Given the description of an element on the screen output the (x, y) to click on. 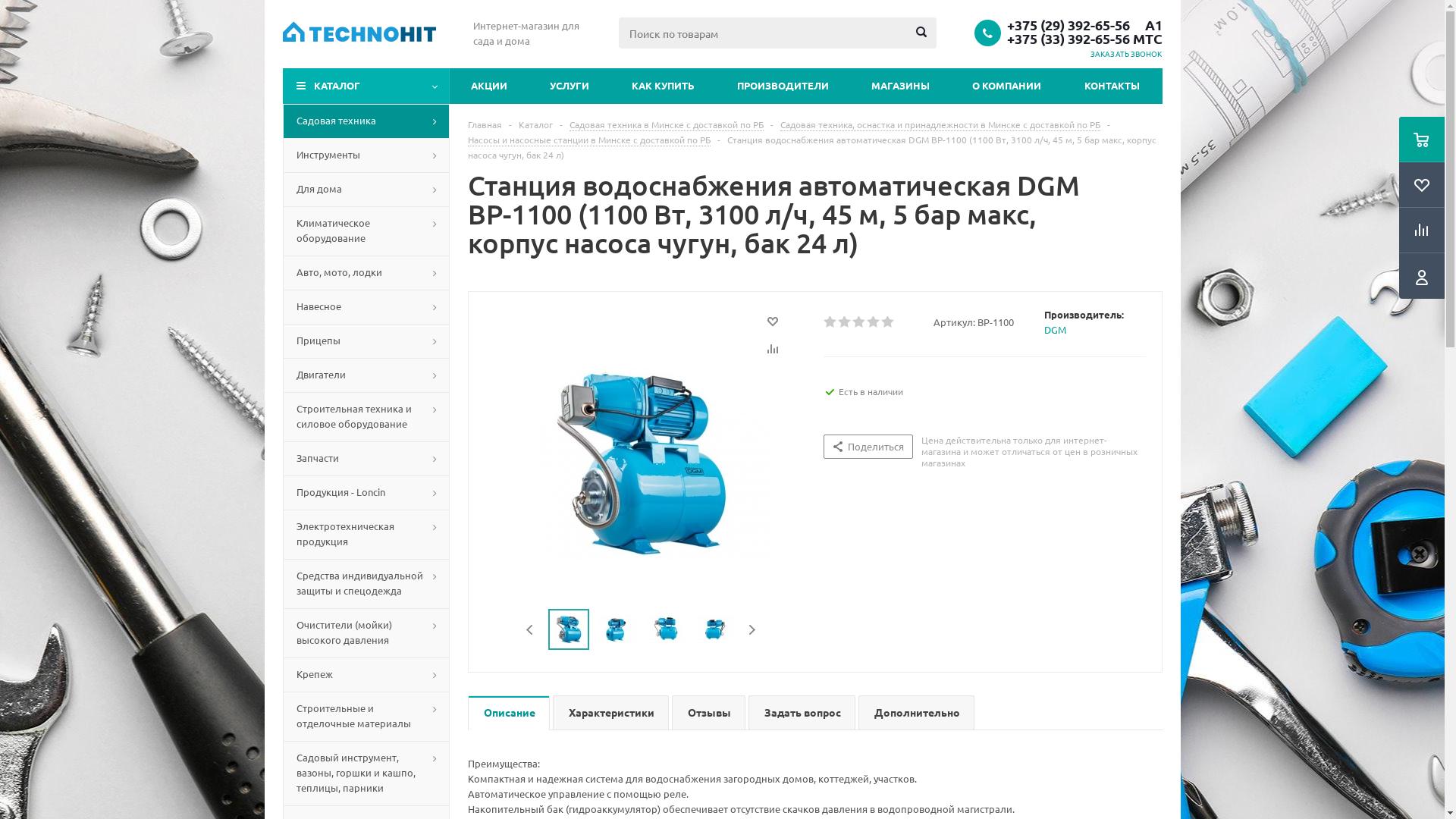
DGM Element type: text (1055, 329)
Previous Element type: text (530, 629)
2 Element type: hover (844, 321)
+375 (29) 392-65-56     A1 Element type: text (1084, 24)
5 Element type: hover (888, 321)
1 Element type: hover (830, 321)
3 Element type: hover (859, 321)
Technohit Element type: hover (358, 32)
Next Element type: text (751, 629)
4 Element type: hover (873, 321)
